Given the description of an element on the screen output the (x, y) to click on. 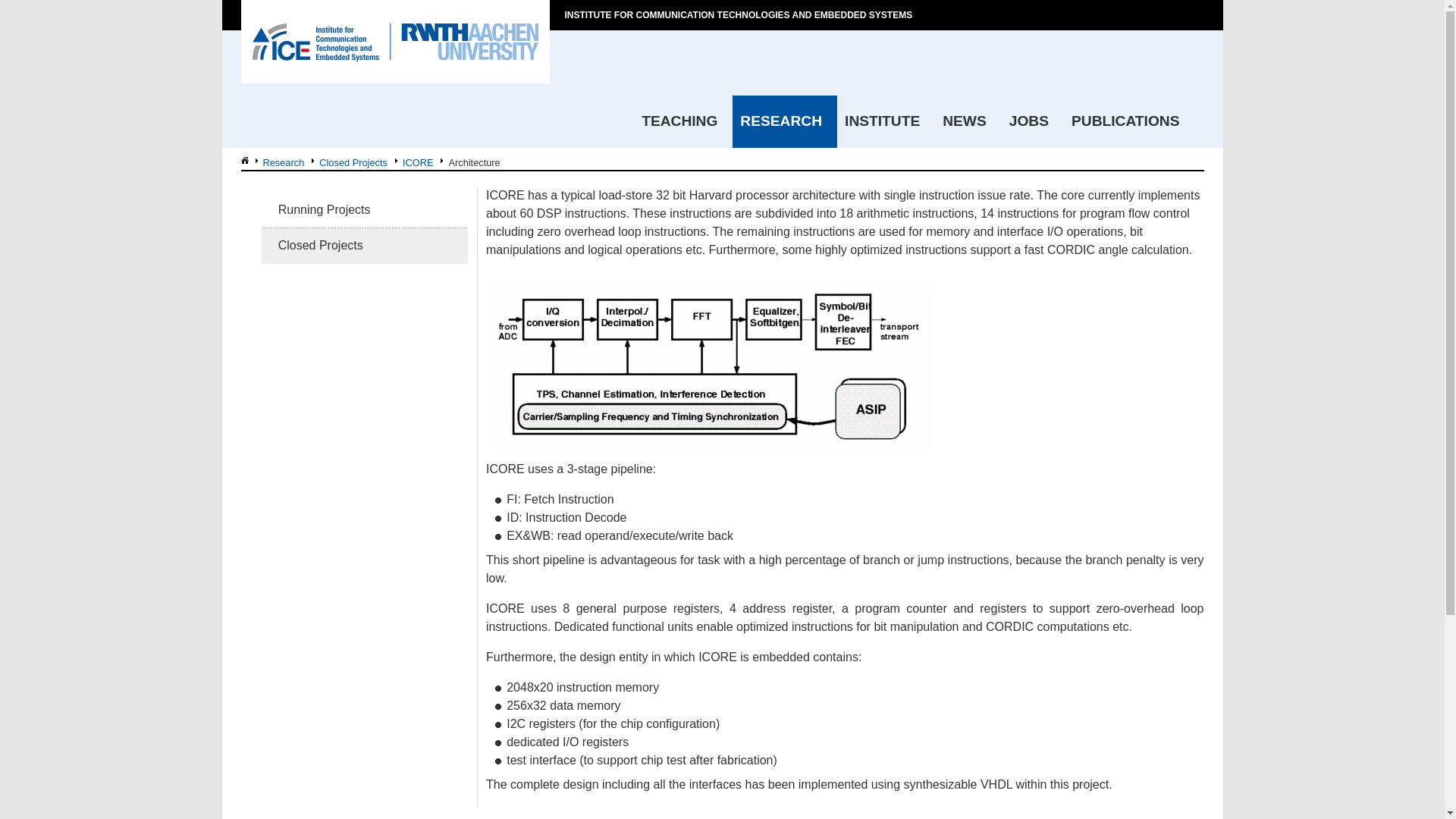
JOBS (1032, 121)
TEACHING (682, 121)
Running Projects (364, 209)
Research (279, 162)
INSTITUTE (885, 121)
Closed Projects (349, 162)
RESEARCH (784, 121)
Closed Projects (349, 162)
PUBLICATIONS (1128, 121)
Closed Projects (364, 245)
